Given the description of an element on the screen output the (x, y) to click on. 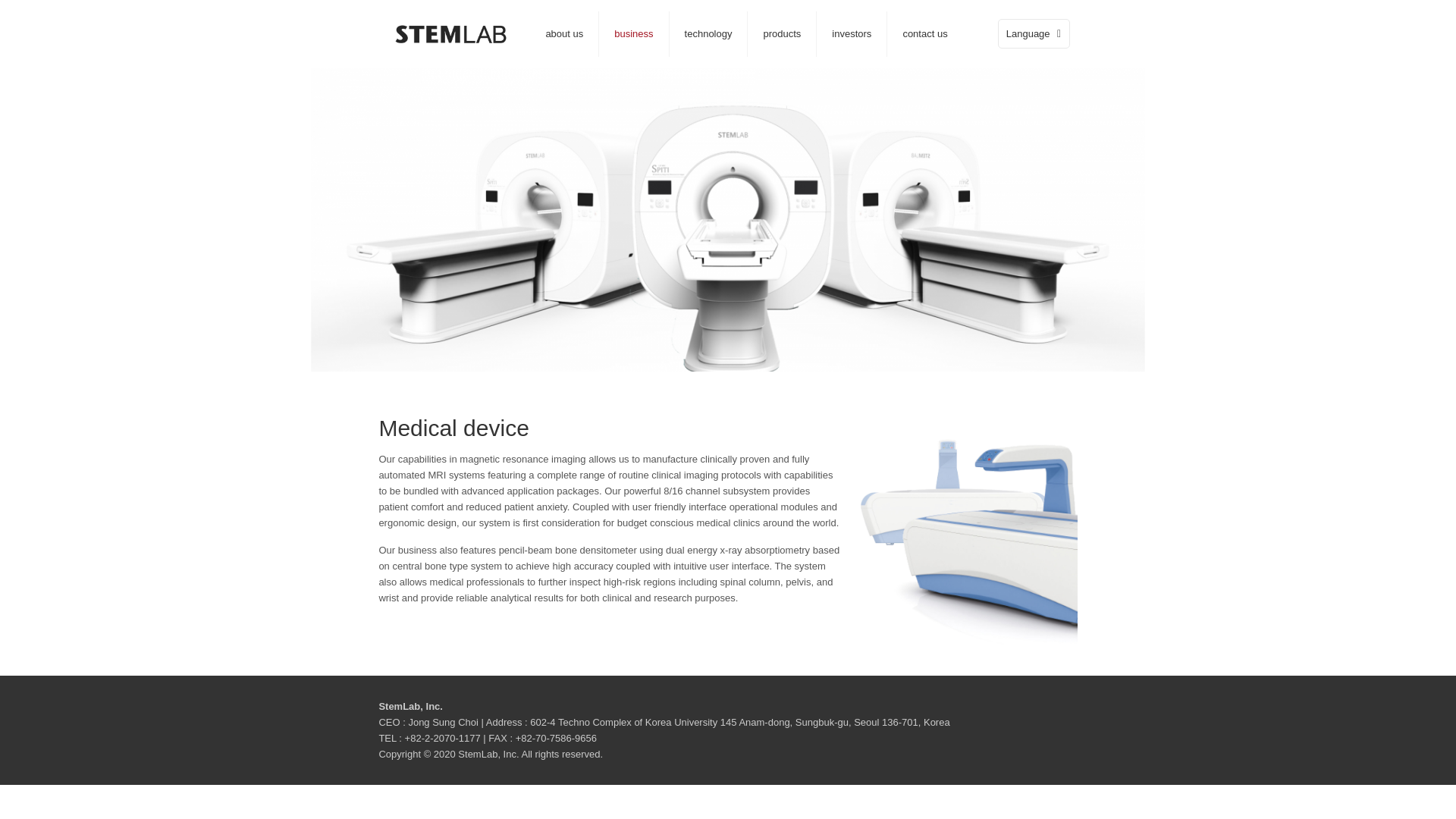
contact us (924, 33)
investors (851, 33)
STEMLAB (449, 33)
technology (708, 33)
business (633, 33)
Language (1033, 33)
about us (563, 33)
products (782, 33)
